Given the description of an element on the screen output the (x, y) to click on. 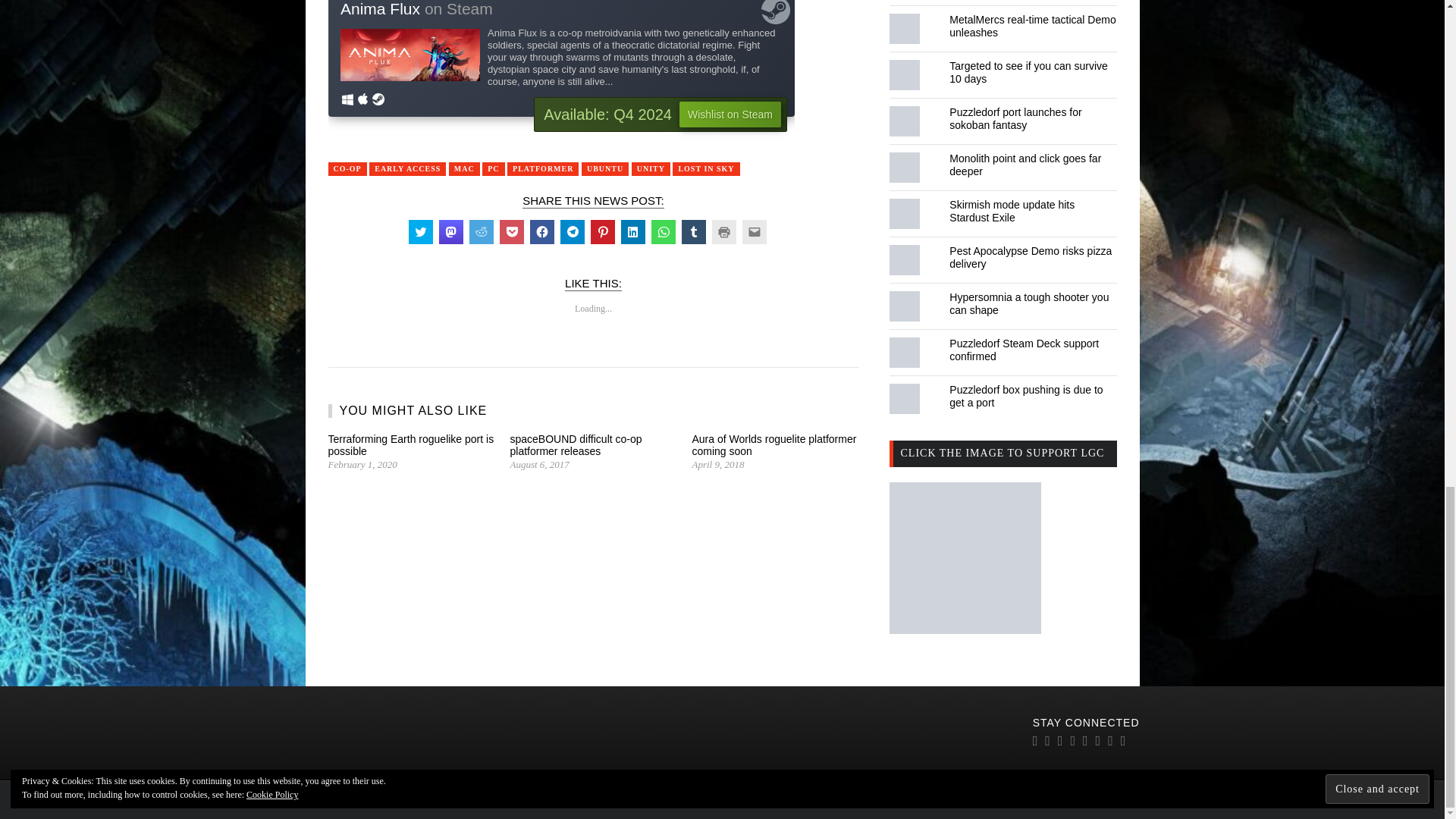
Click to share on Telegram (571, 232)
Click to share on LinkedIn (632, 232)
Click to share on Mastodon (450, 232)
LOST IN SKY (705, 169)
UBUNTU (604, 169)
EARLY ACCESS (407, 169)
PLATFORMER (542, 169)
PC (492, 169)
Click to share on Facebook (541, 232)
Click to share on Reddit (480, 232)
CO-OP (346, 169)
Click to share on Tumblr (692, 232)
Click to share on Pinterest (601, 232)
MAC (464, 169)
Click to email a link to a friend (753, 232)
